Given the description of an element on the screen output the (x, y) to click on. 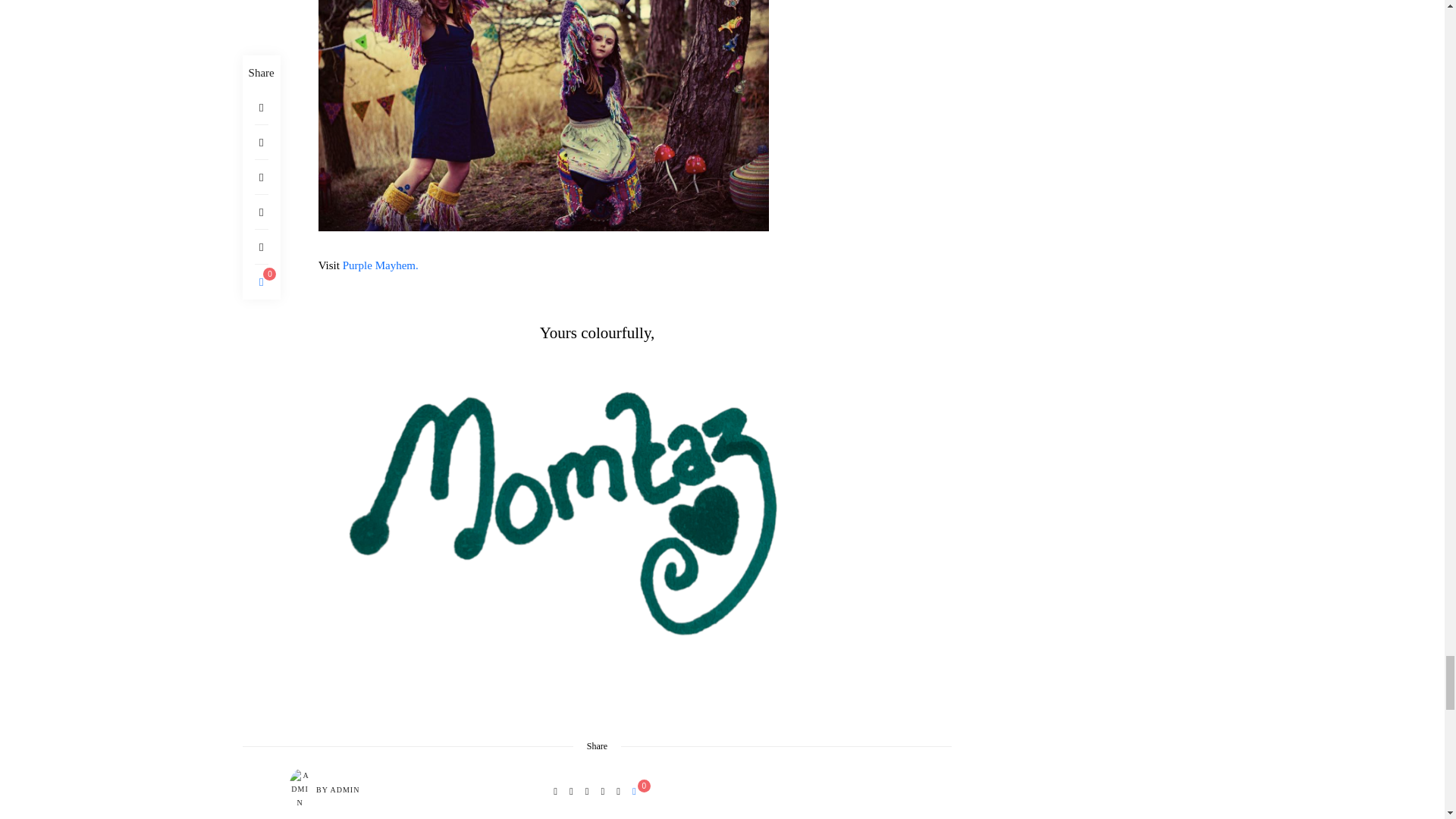
Posts by admin (344, 790)
